Given the description of an element on the screen output the (x, y) to click on. 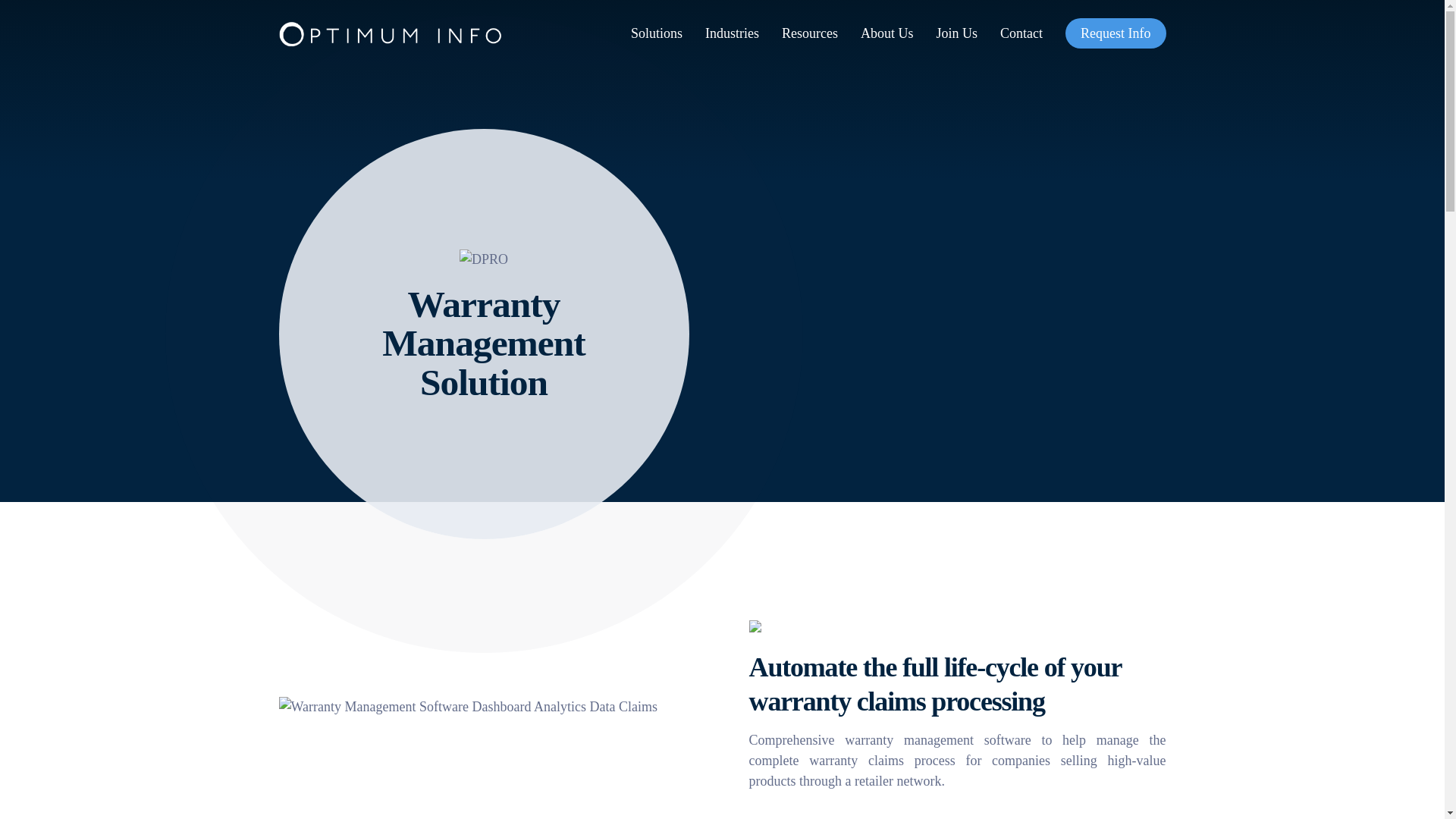
Solutions (656, 32)
Join Us (956, 32)
Resources (809, 32)
Request Info (1115, 33)
Contact (1021, 32)
Industries (731, 32)
About Us (887, 32)
